Given the description of an element on the screen output the (x, y) to click on. 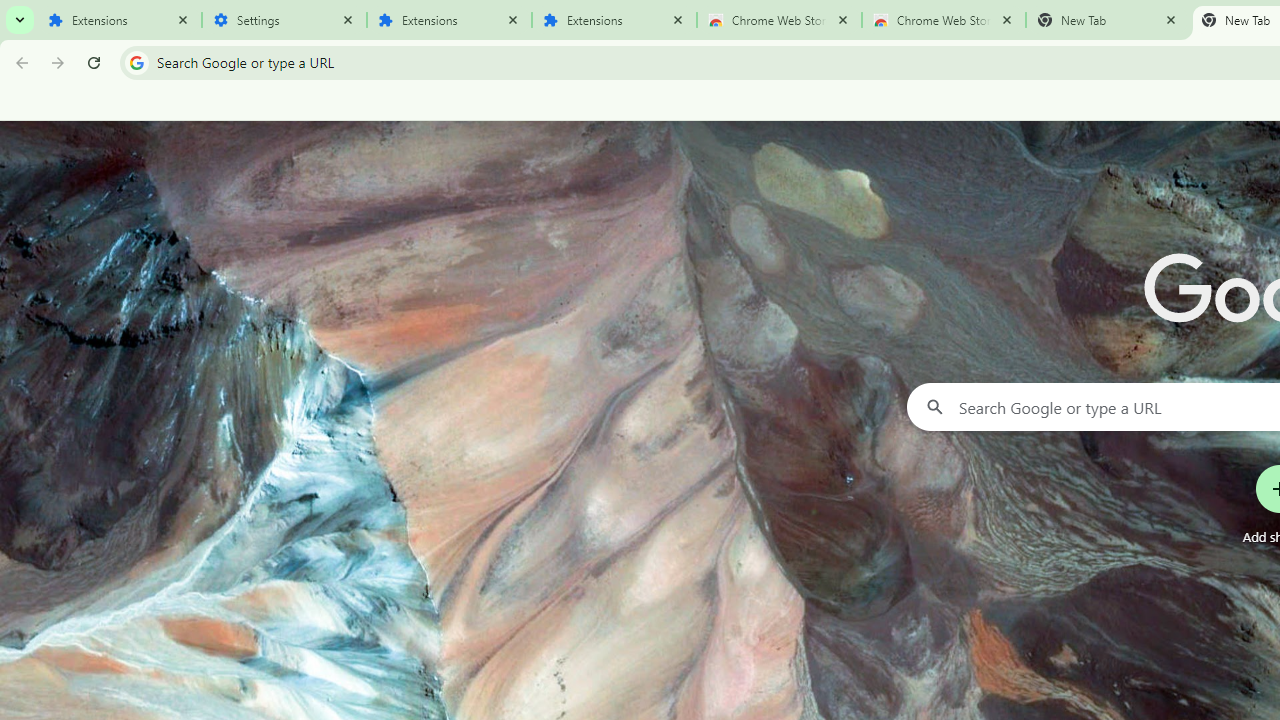
New Tab (1108, 20)
Settings (284, 20)
Extensions (119, 20)
Extensions (449, 20)
Chrome Web Store (779, 20)
Extensions (614, 20)
Chrome Web Store - Themes (943, 20)
